Given the description of an element on the screen output the (x, y) to click on. 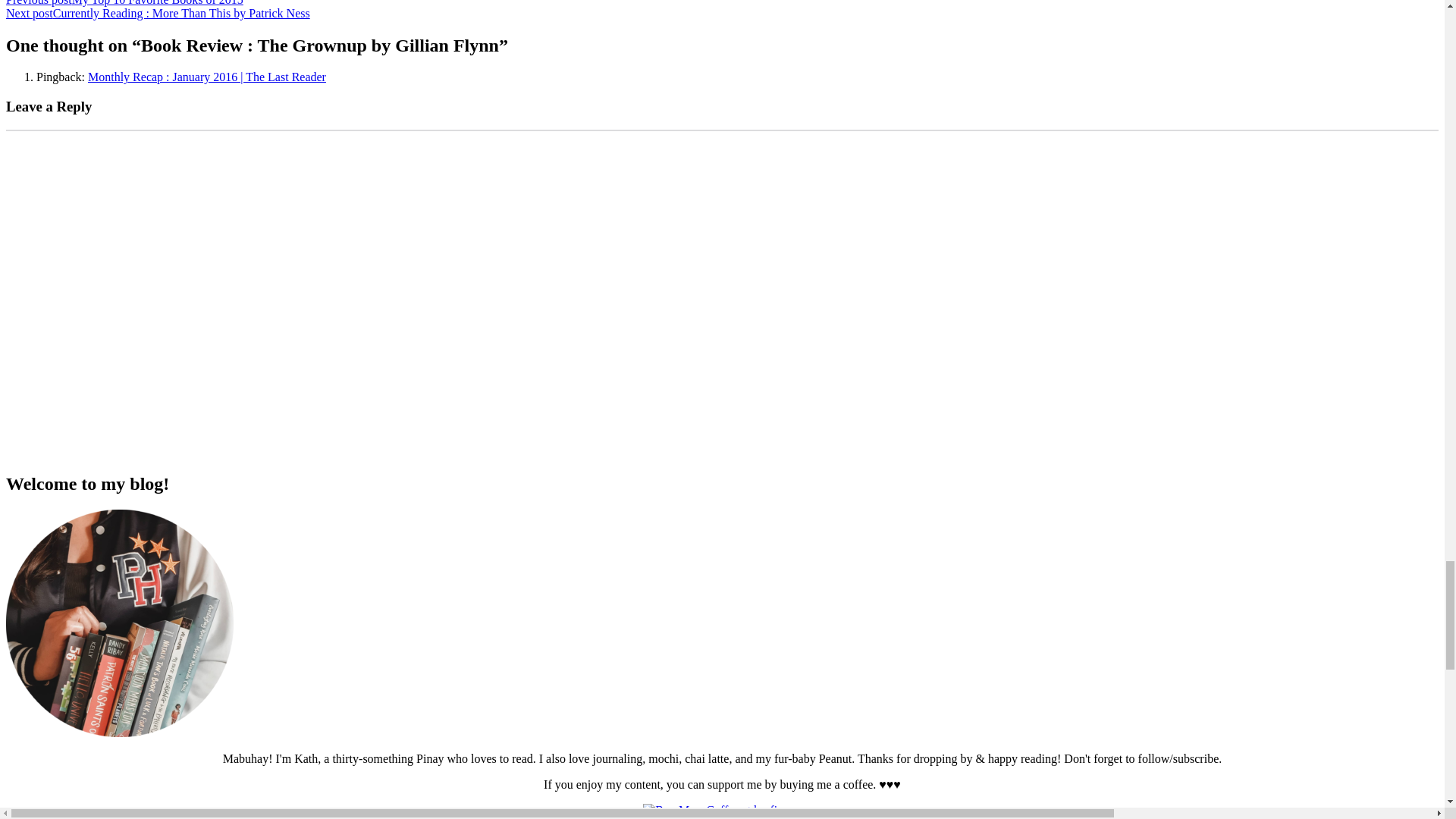
Next postCurrently Reading : More Than This by Patrick Ness (157, 12)
Previous postMy Top 10 Favorite Books of 2015 (124, 2)
